Given the description of an element on the screen output the (x, y) to click on. 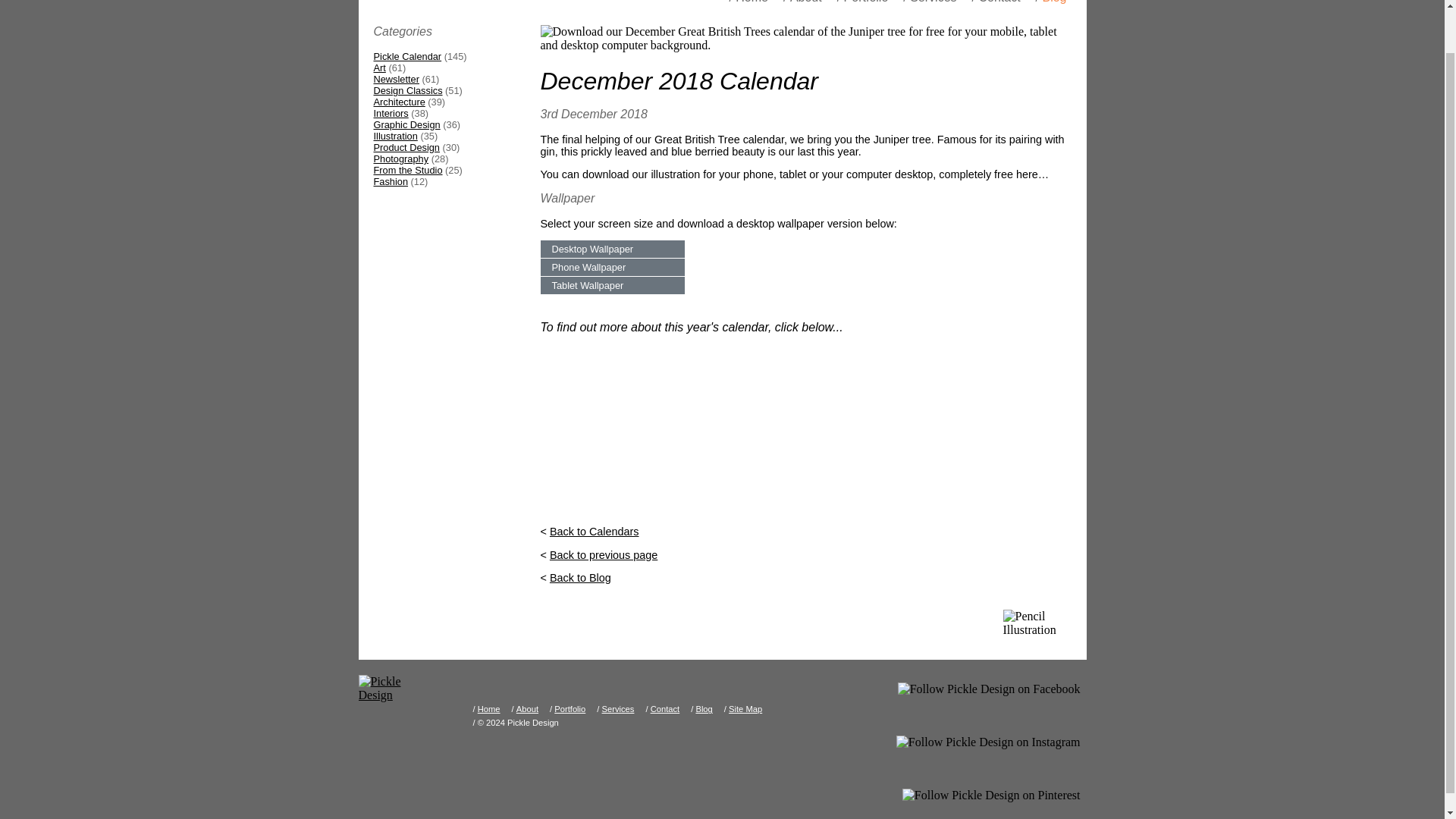
Design Classics (407, 90)
Architecture (398, 101)
Services (933, 4)
Desktop Wallpaper (612, 248)
Art (378, 67)
Fashion (389, 181)
Interiors (389, 112)
Pickle Calendar (406, 56)
Tablet Wallpaper (612, 285)
From the Studio (407, 170)
Blog (1053, 4)
Portfolio (866, 4)
Contact (999, 4)
Photography (400, 158)
Phone Wallpaper (612, 267)
